Given the description of an element on the screen output the (x, y) to click on. 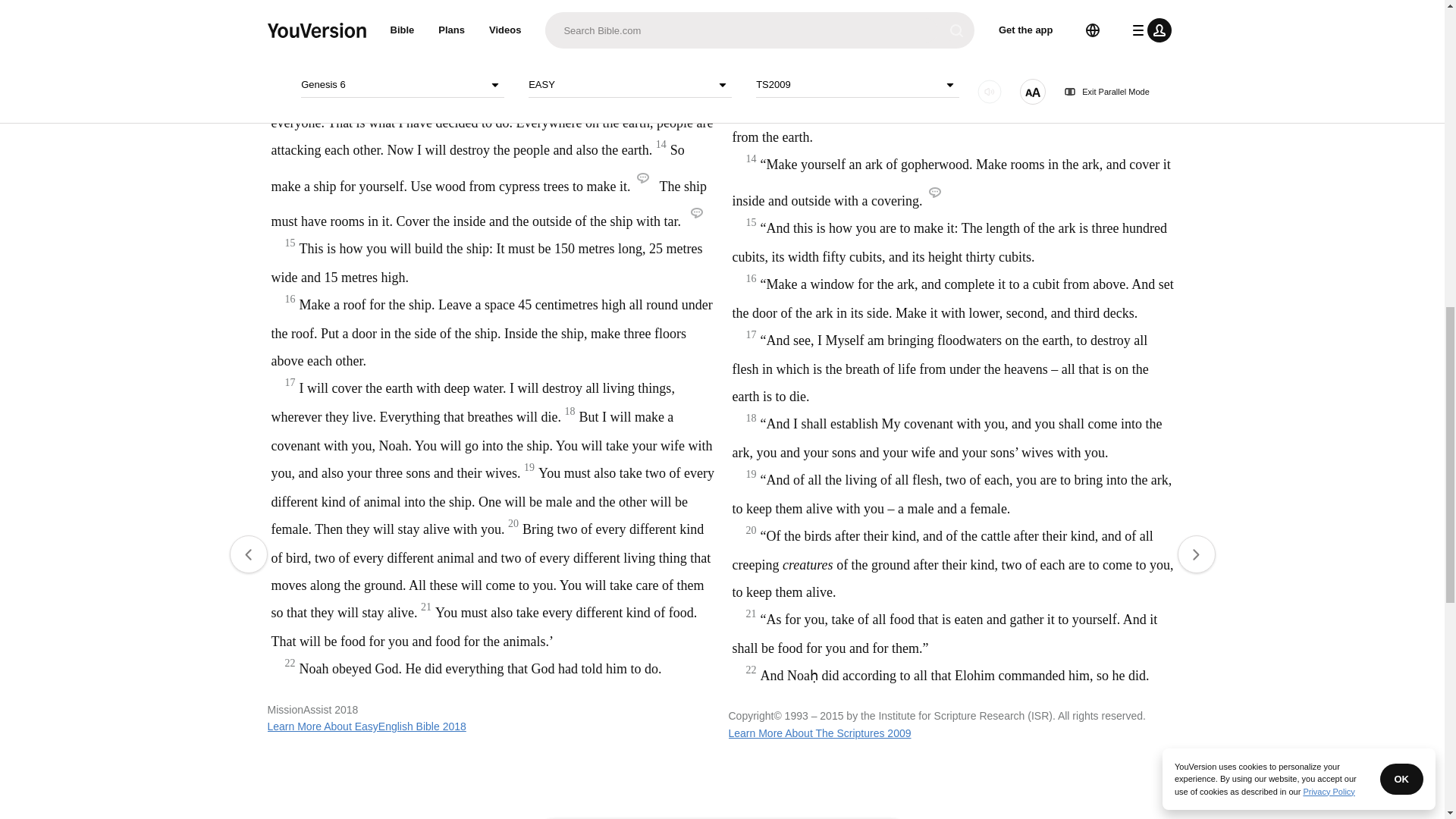
Learn More About EasyEnglish Bible 2018 (365, 726)
: (599, 47)
Genesis 6: EASY (620, 47)
Learn More About The Scriptures 2009 (819, 733)
Sign up or sign in (774, 245)
